Given the description of an element on the screen output the (x, y) to click on. 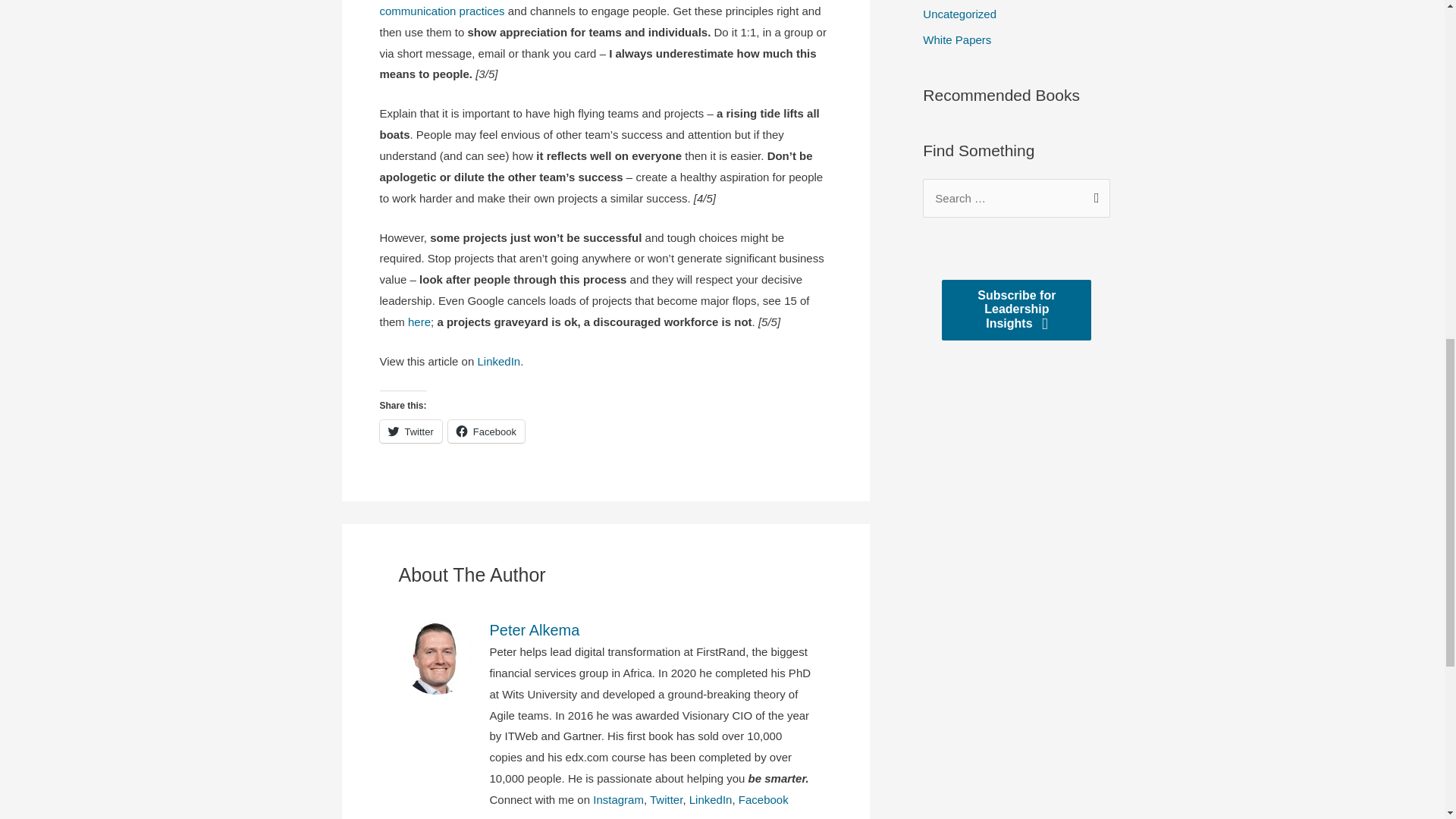
here (418, 321)
LinkedIn (498, 360)
Twitter (409, 431)
Facebook (486, 431)
Instagram (617, 799)
Peter Alkema (650, 630)
Click to share on Twitter (409, 431)
Twitter (665, 799)
Search (1092, 194)
LinkedIn (710, 799)
Search (1092, 194)
good communication practices (601, 8)
Click to share on Facebook (486, 431)
